Given the description of an element on the screen output the (x, y) to click on. 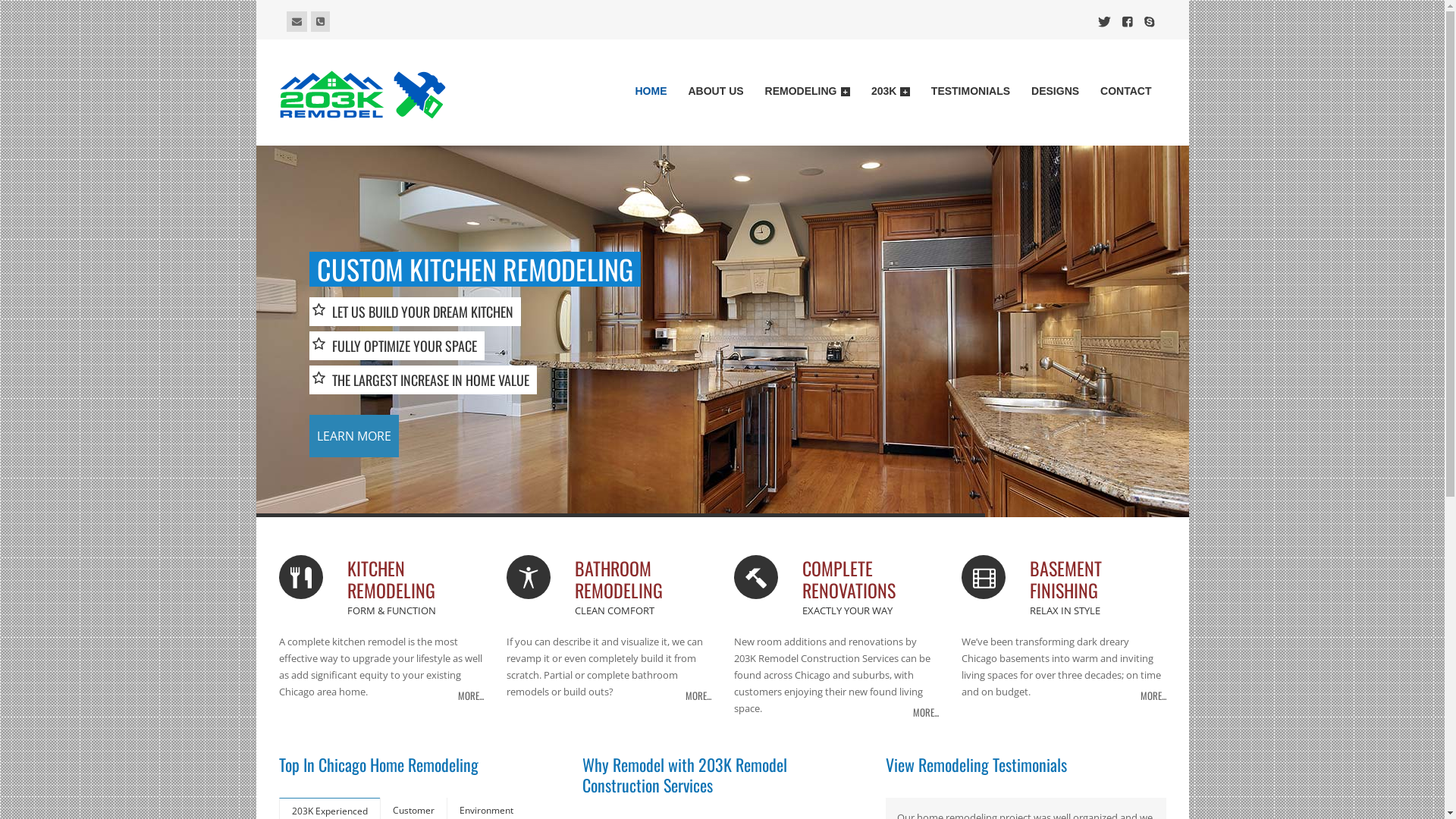
BASEMENT
FINISHING Element type: text (1097, 580)
MORE... Element type: text (925, 709)
View Facebook Page Element type: hover (1127, 22)
CONTACT Element type: text (1125, 93)
Environment Element type: text (486, 809)
MORE... Element type: text (470, 693)
KITCHEN
REMODELING Element type: text (415, 580)
COMPLETE
RENOVATIONS Element type: text (870, 580)
ABOUT US Element type: text (715, 93)
Customer Element type: text (413, 809)
Call Us using Skype Element type: hover (1148, 22)
BATHROOM
REMODELING Element type: text (642, 580)
Click for email Element type: hover (296, 21)
Twitter Coming Soon Element type: hover (1104, 22)
203K Experienced Element type: text (329, 810)
MORE... Element type: text (1153, 693)
TESTIMONIALS Element type: text (970, 93)
203K+ Element type: text (890, 93)
HOME Element type: text (650, 93)
MORE... Element type: text (698, 693)
DESIGNS Element type: text (1055, 93)
LEARN MORE Element type: text (353, 435)
REMODELING+ Element type: text (807, 93)
Click for Phone Number Element type: hover (319, 21)
